Given the description of an element on the screen output the (x, y) to click on. 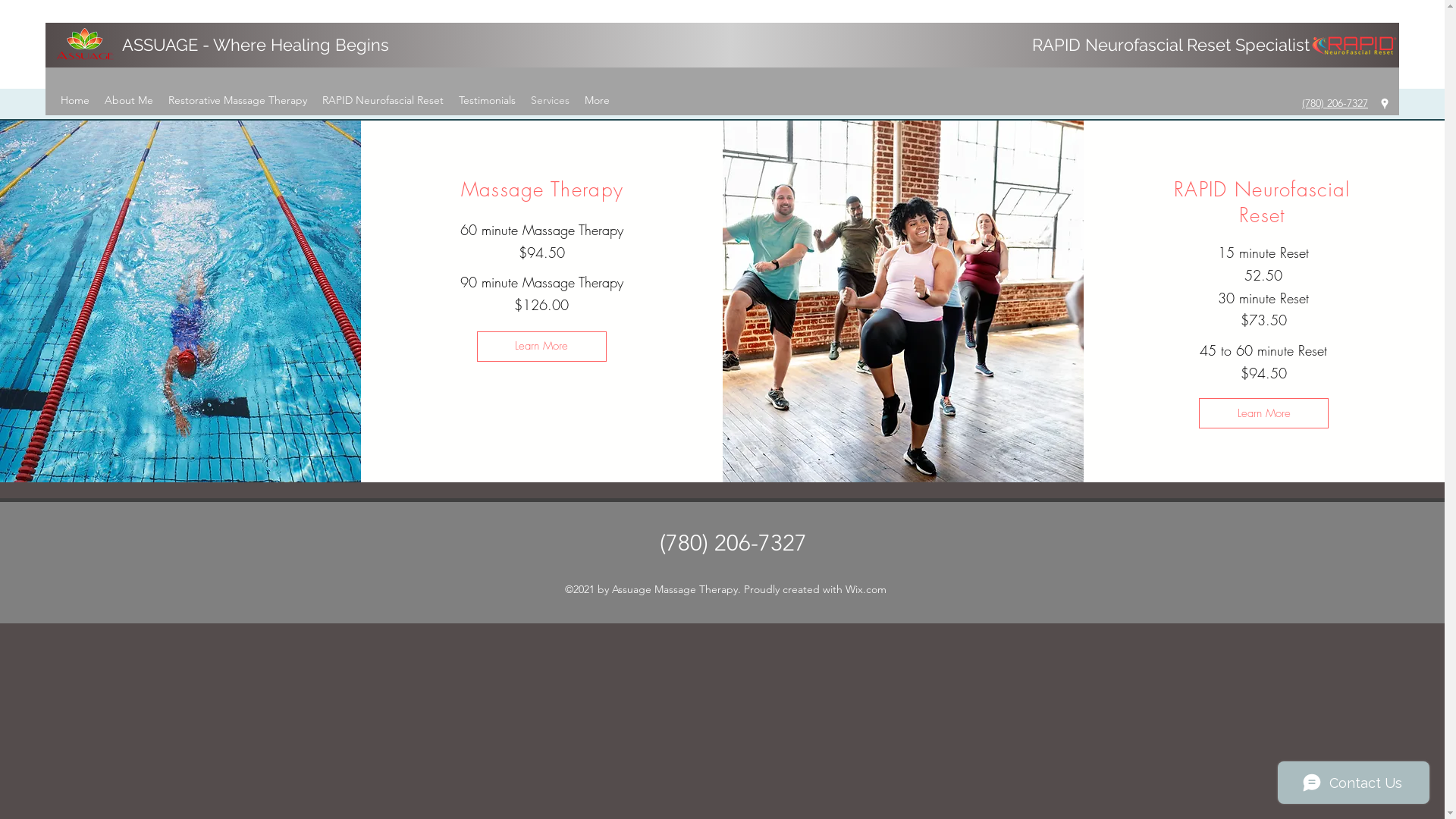
ASSUAGE - Where Healing Begins Element type: text (255, 44)
Services Element type: text (550, 99)
Home Element type: text (75, 99)
Learn More Element type: text (541, 346)
Learn More Element type: text (1263, 413)
Restorative Massage Therapy Element type: text (237, 99)
RAPID Neurofascial Reset Specialist Element type: text (1170, 44)
About Me Element type: text (128, 99)
Testimonials Element type: text (487, 99)
RAPID Neurofascial Reset Element type: text (382, 99)
logo_edited.webp Element type: hover (1353, 45)
(780) 206-7327 Element type: text (732, 542)
(780) 206-7327 Element type: text (1335, 102)
Logo Just Assuage.png Element type: hover (84, 45)
